Given the description of an element on the screen output the (x, y) to click on. 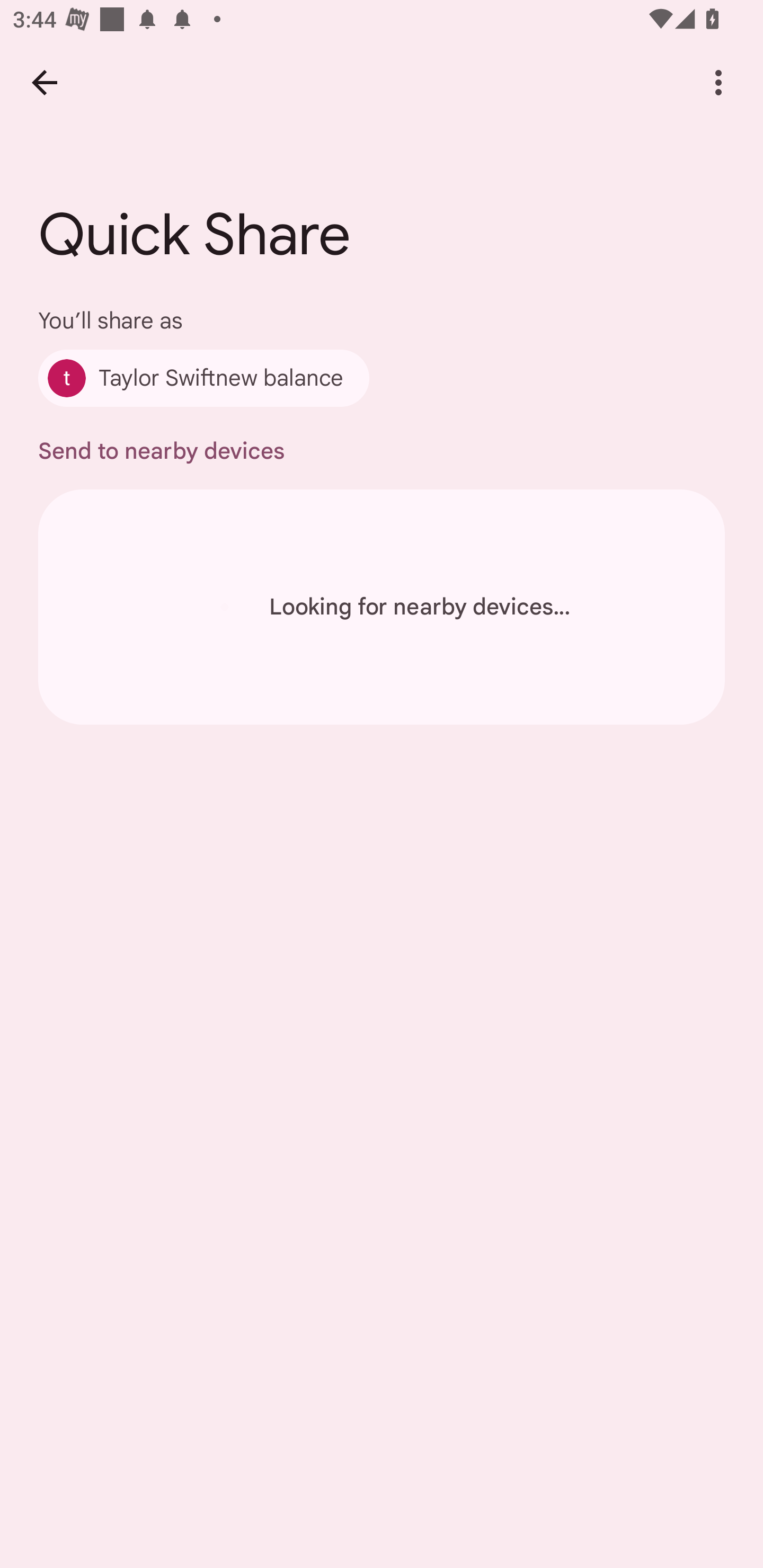
Back (44, 81)
More (718, 81)
Taylor Swiftnew balance (203, 378)
